Given the description of an element on the screen output the (x, y) to click on. 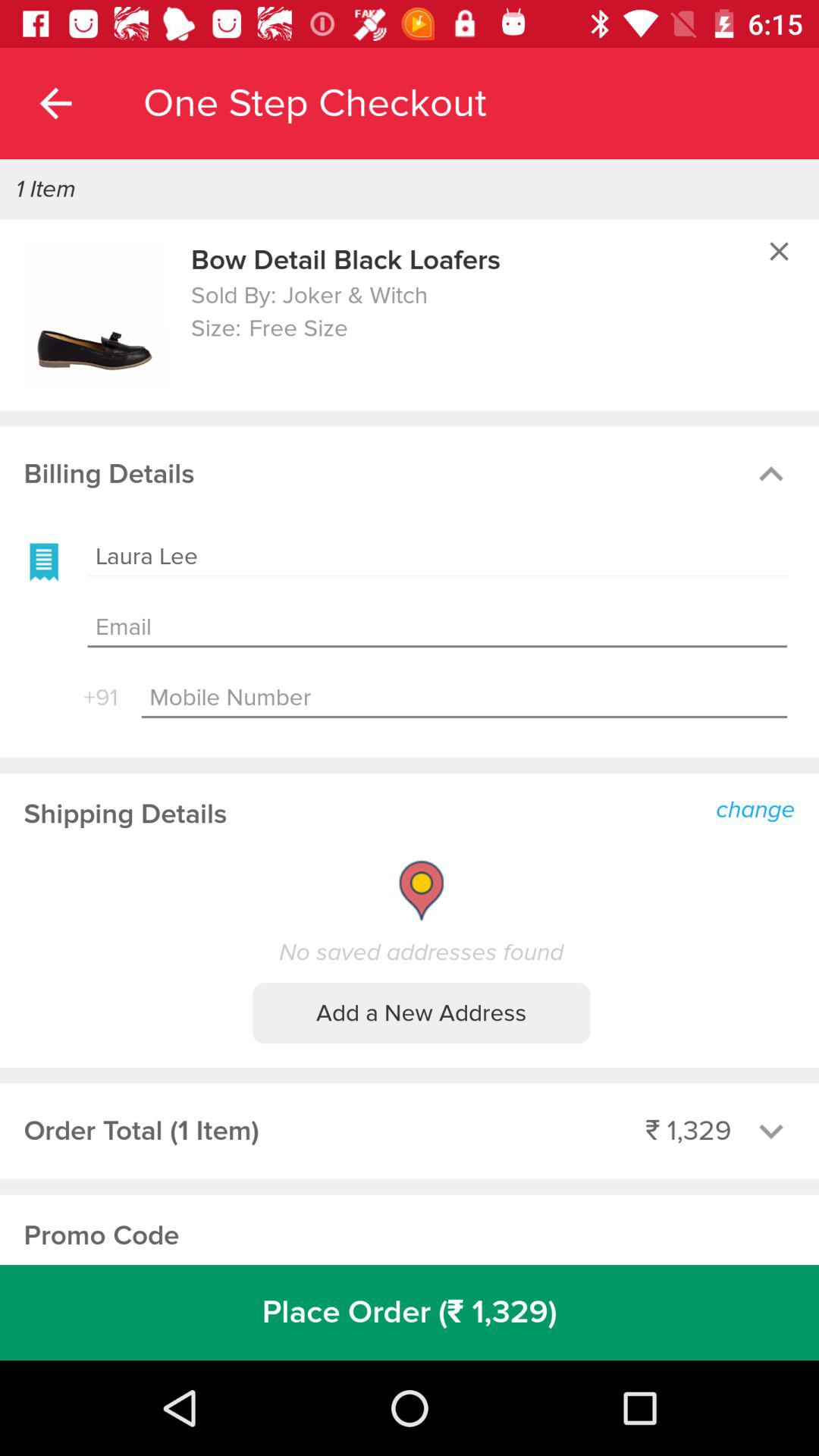
turn off the laura lee item (437, 557)
